Given the description of an element on the screen output the (x, y) to click on. 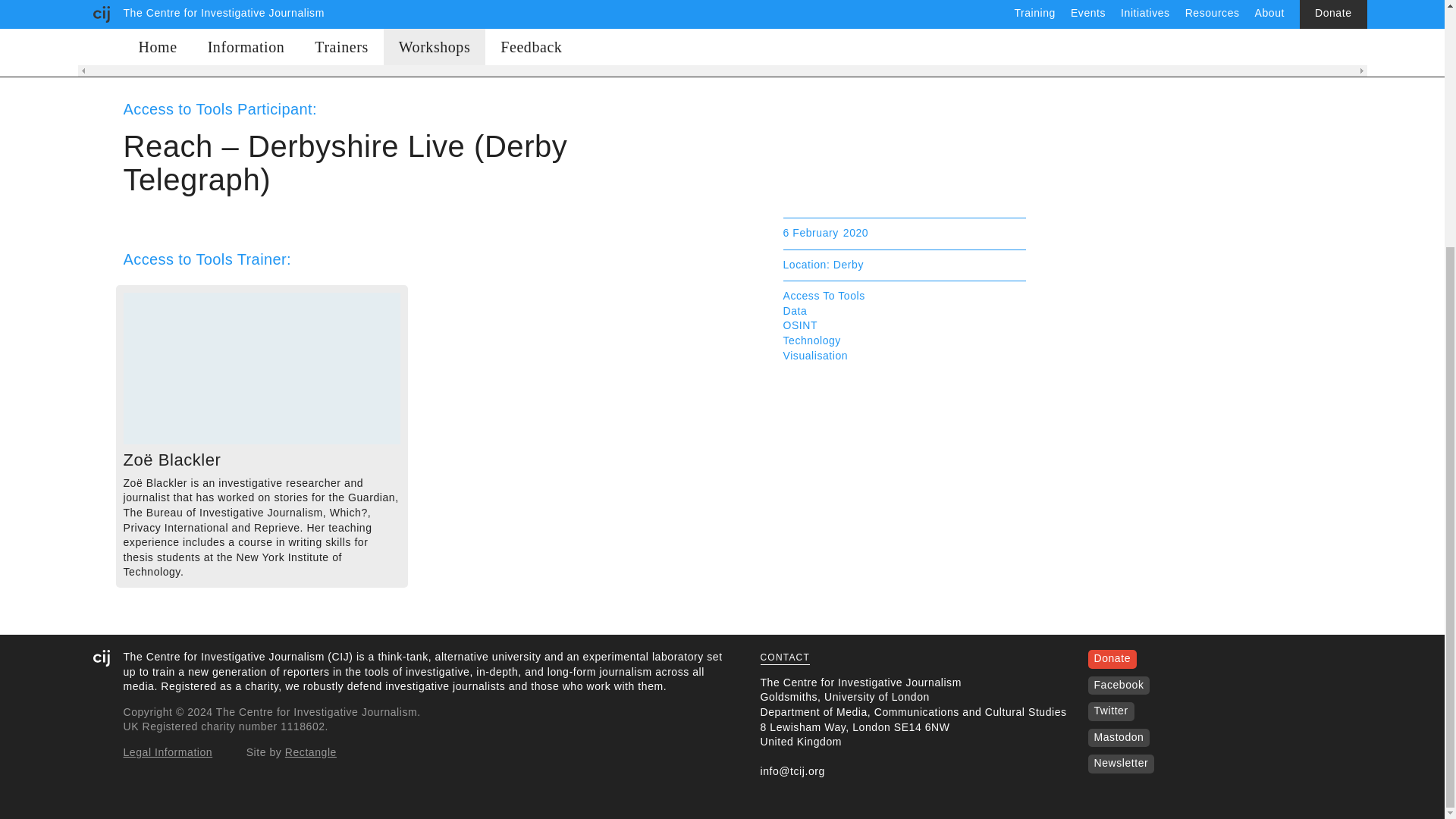
Feedback (530, 43)
Legal Information (167, 752)
Information (245, 43)
Facebook (1117, 684)
Mastodon (1117, 736)
Rectangle (310, 752)
Home (157, 43)
Donate (1112, 657)
Twitter (1109, 710)
Newsletter (1120, 762)
Workshops (435, 43)
Trainers (340, 43)
